Given the description of an element on the screen output the (x, y) to click on. 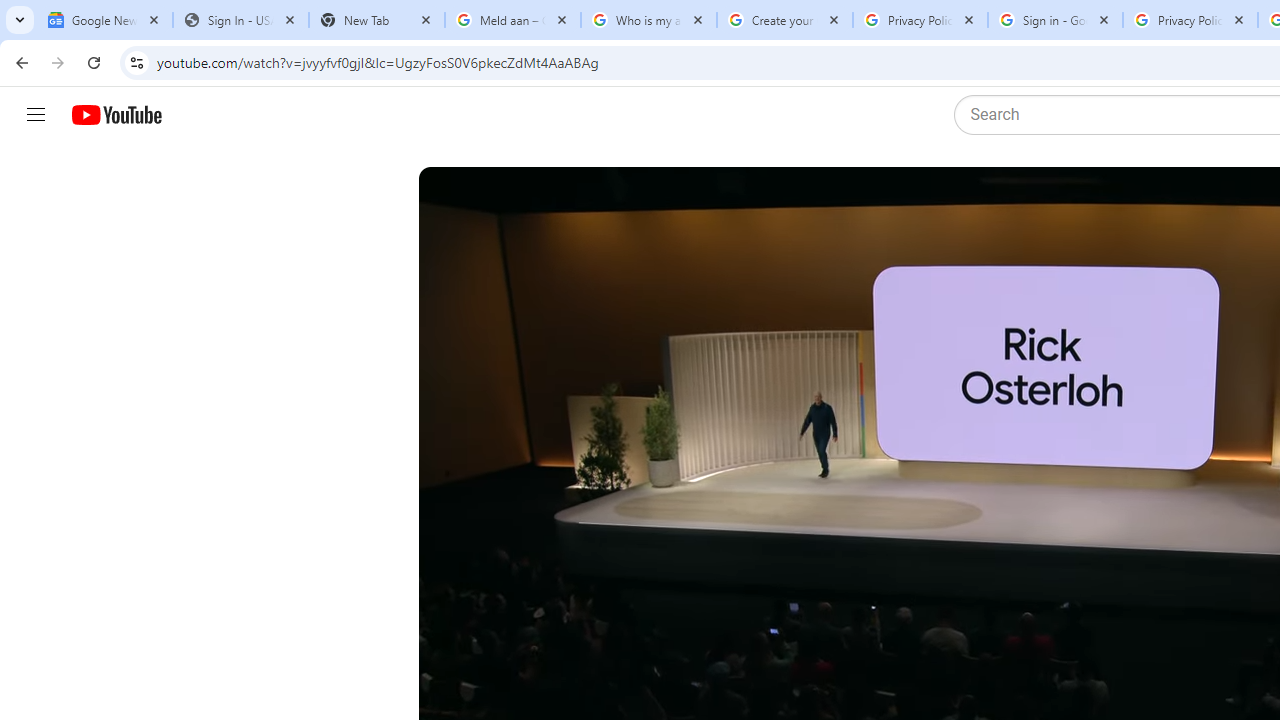
Who is my administrator? - Google Account Help (648, 20)
Sign In - USA TODAY (240, 20)
Google News (104, 20)
YouTube Home (116, 115)
New Tab (376, 20)
Create your Google Account (784, 20)
